Given the description of an element on the screen output the (x, y) to click on. 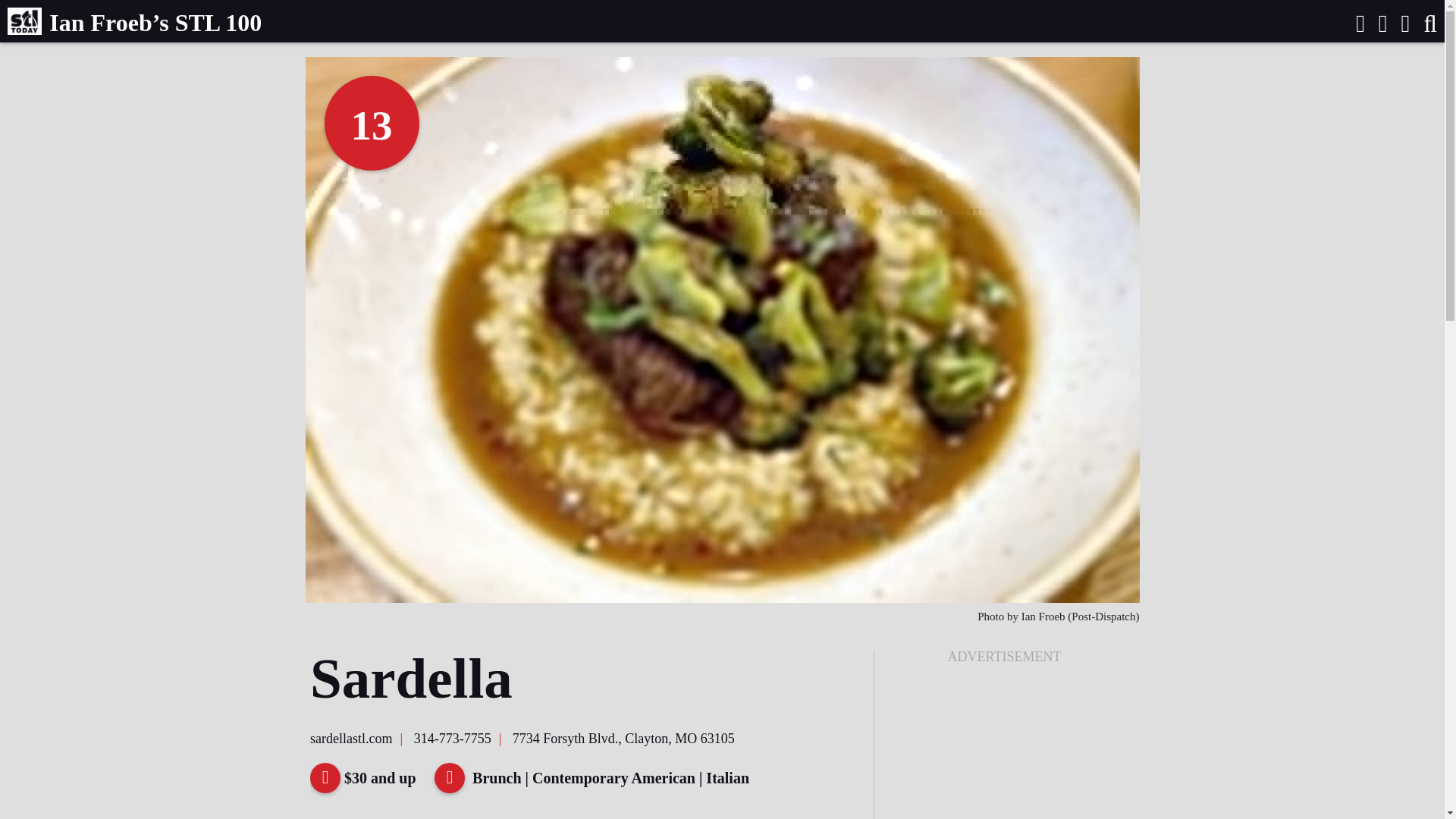
Italian (727, 777)
sardellastl.com (350, 738)
Brunch (496, 777)
314-773-7755 (452, 738)
7734 Forsyth Blvd., Clayton, MO 63105 (623, 738)
3rd party ad content (1003, 747)
Contemporary American (613, 777)
